Given the description of an element on the screen output the (x, y) to click on. 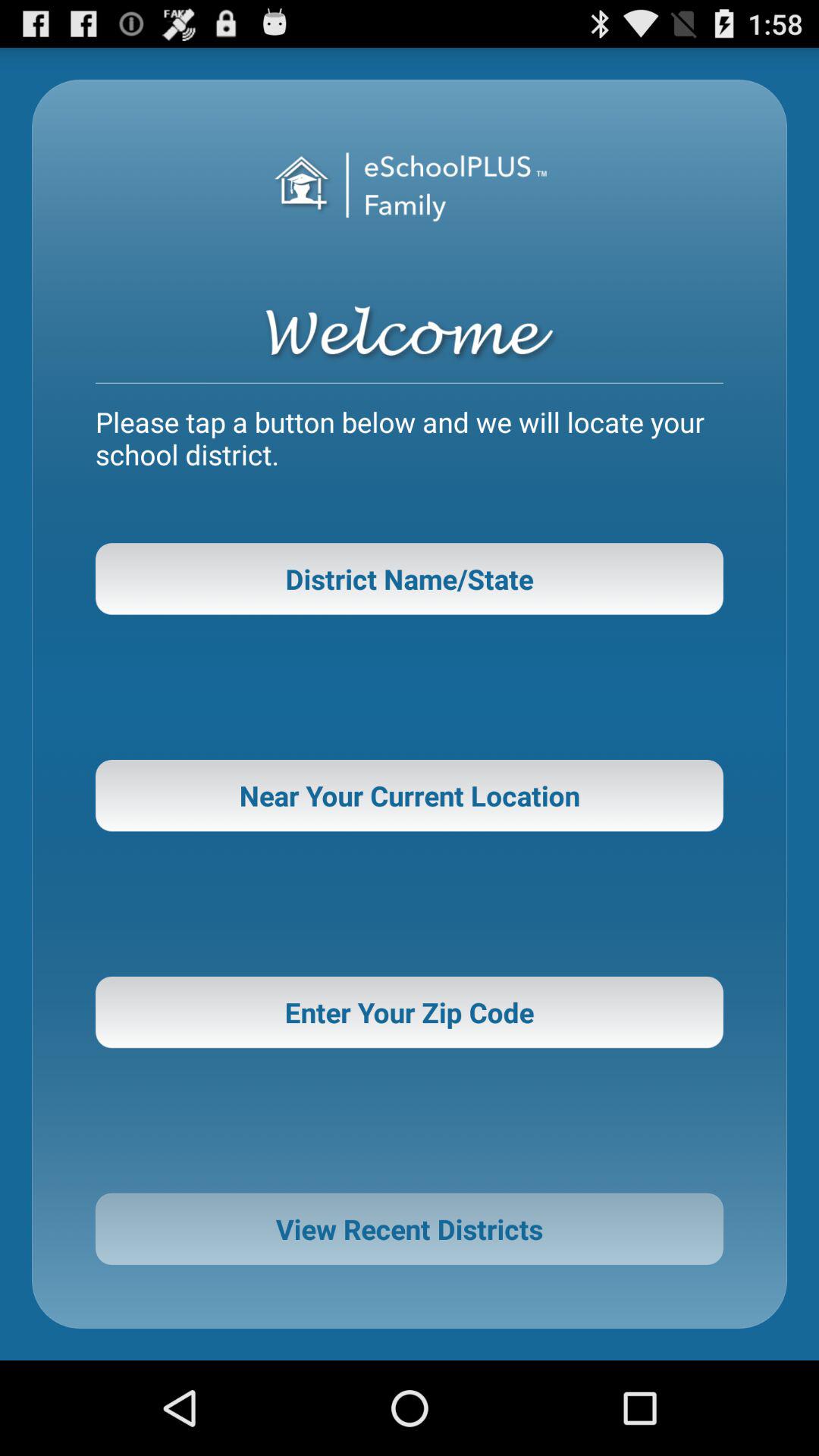
swipe to the view recent districts (409, 1228)
